Given the description of an element on the screen output the (x, y) to click on. 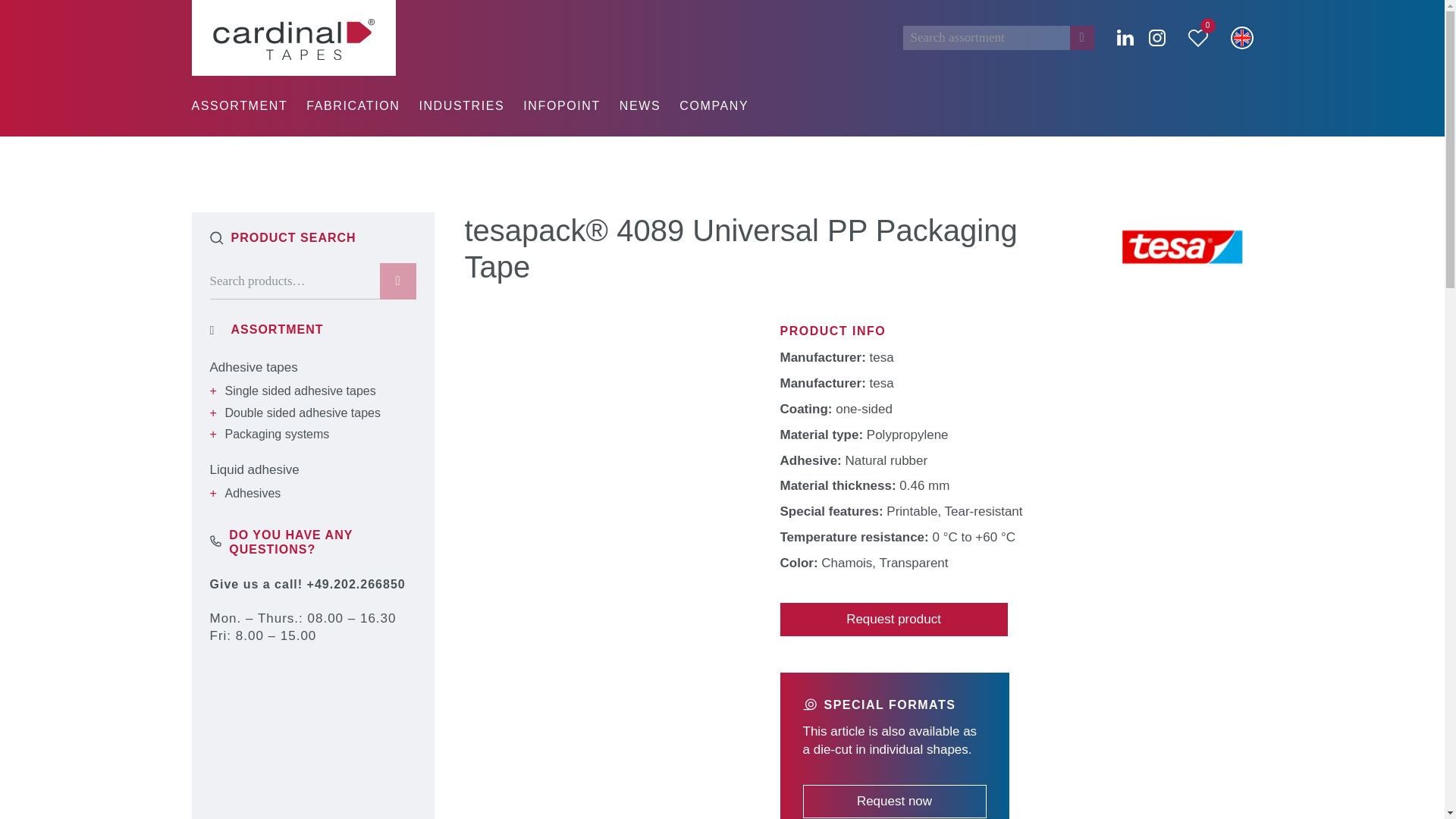
0 (1197, 36)
INDUSTRIES (461, 106)
ASSORTMENT (238, 106)
FABRICATION (351, 106)
infothek (560, 106)
